Given the description of an element on the screen output the (x, y) to click on. 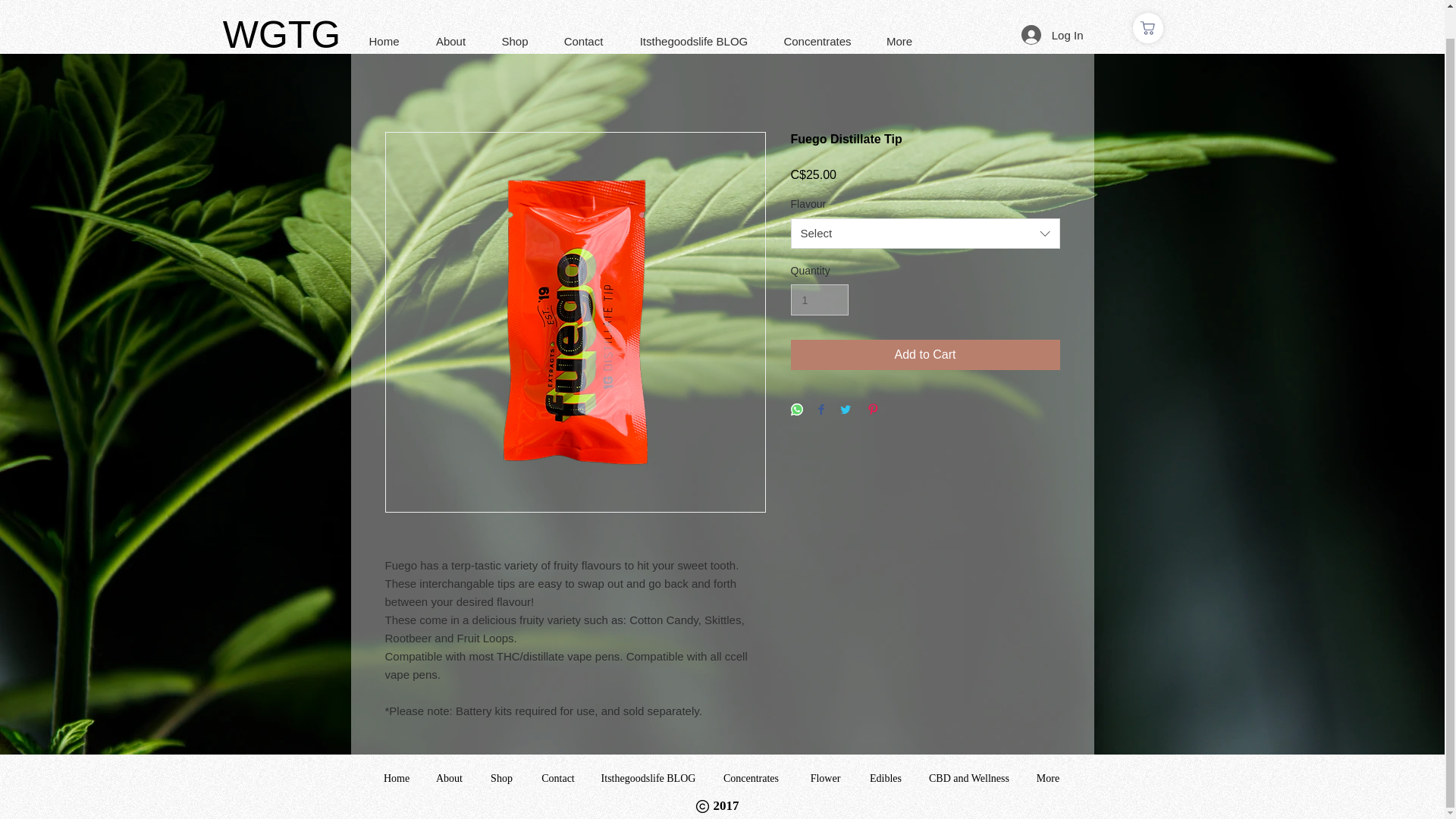
Flower (825, 778)
Add to Cart (924, 354)
Contact (583, 12)
Shop (513, 12)
Select (924, 233)
Concentrates (816, 12)
Concentrates (750, 778)
Itsthegoodslife BLOG (694, 12)
About (449, 12)
Edibles (885, 778)
1 (818, 299)
Shop (500, 778)
Itsthegoodslife BLOG (648, 778)
Home (383, 12)
Contact (557, 778)
